Given the description of an element on the screen output the (x, y) to click on. 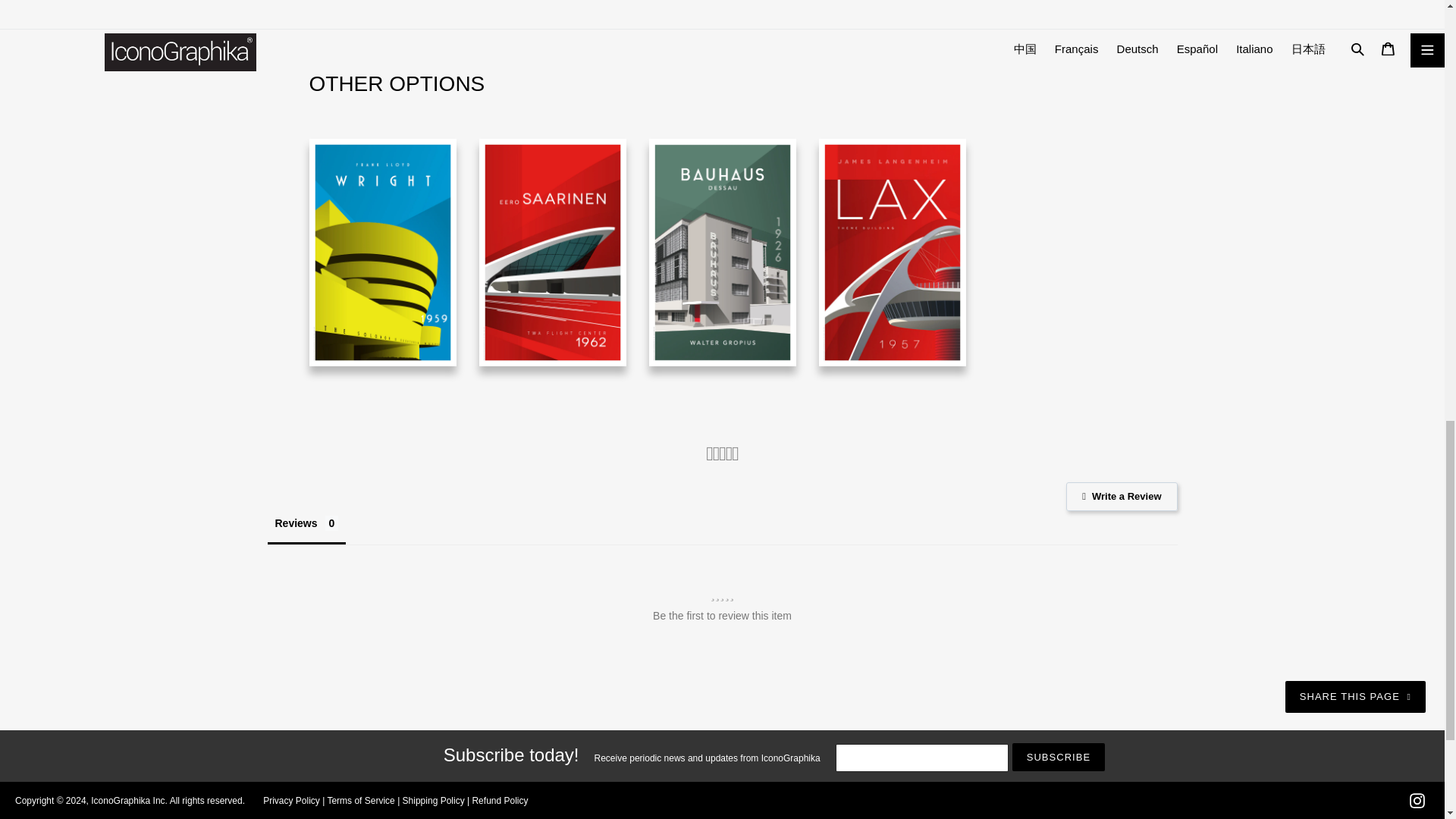
Subscribe (1058, 757)
